Given the description of an element on the screen output the (x, y) to click on. 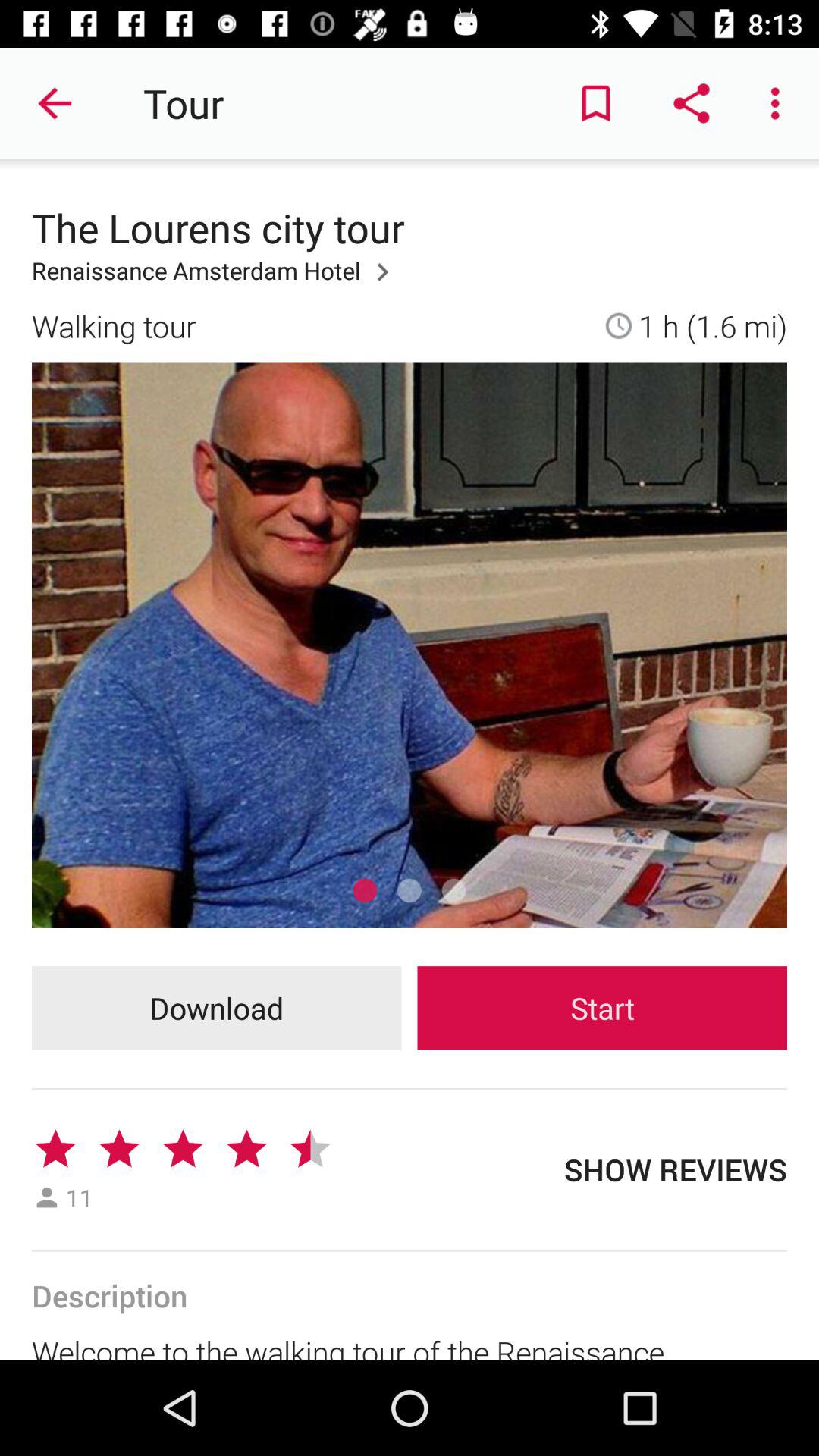
click icon to the left of the tour icon (55, 103)
